Given the description of an element on the screen output the (x, y) to click on. 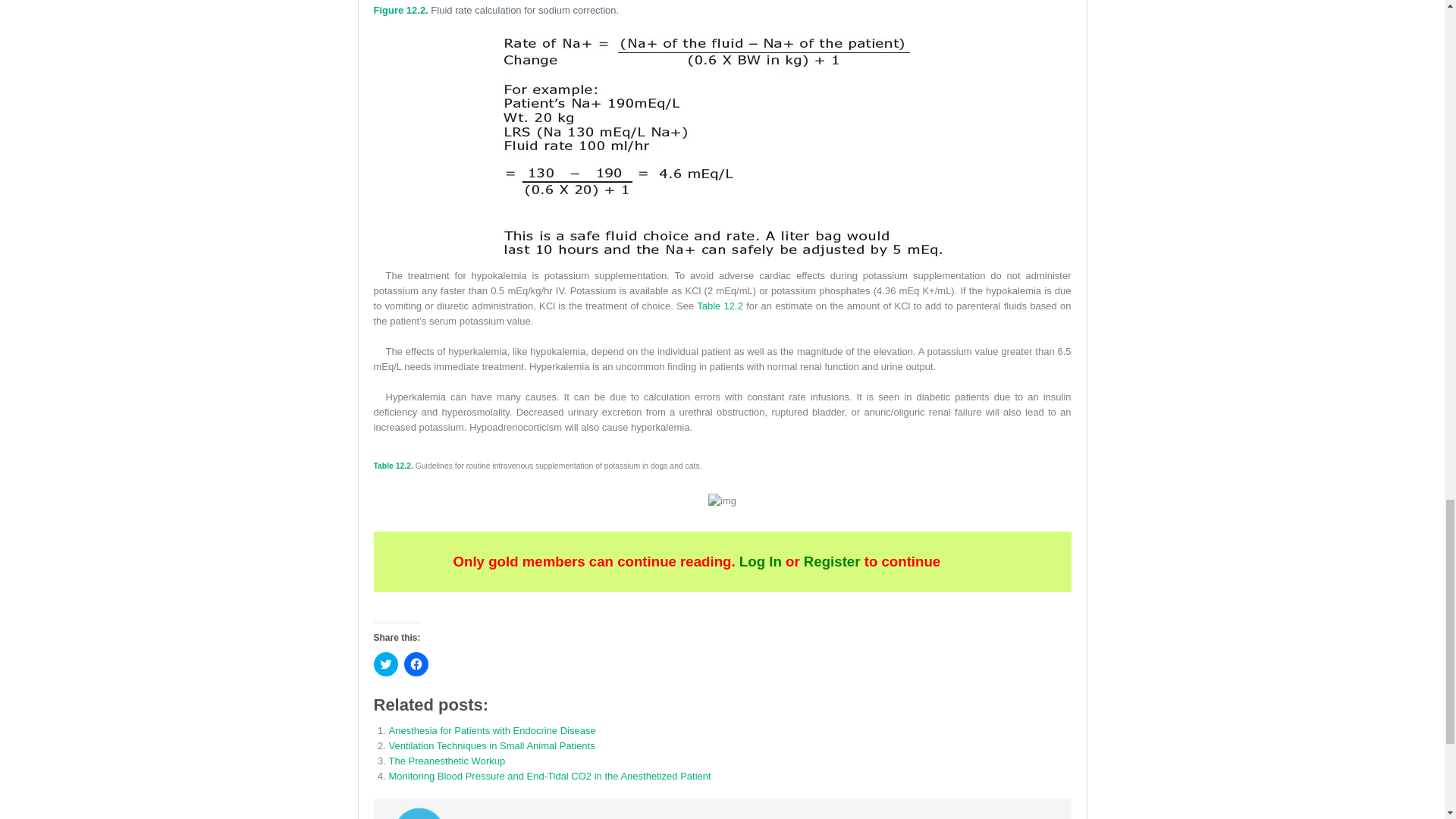
Ventilation Techniques in Small Animal Patients (491, 745)
Figure 12.2. (400, 9)
The Preanesthetic Workup (446, 760)
Click to share on Facebook (415, 663)
Click to share on Twitter (384, 663)
Table 12.2 (719, 306)
Anesthesia for Patients with Endocrine Disease (491, 730)
